Given the description of an element on the screen output the (x, y) to click on. 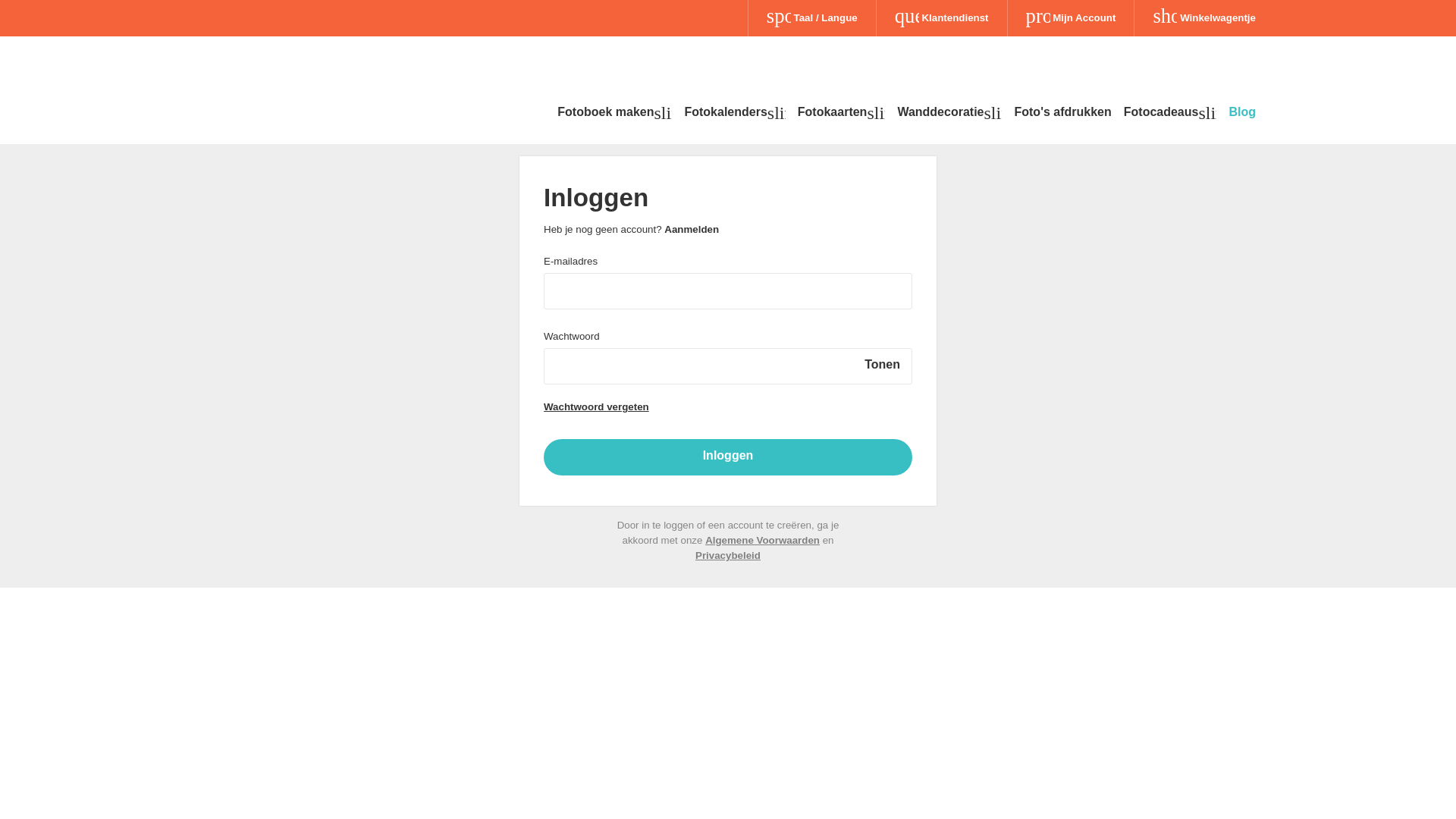
Privacybeleid Element type: text (727, 555)
Foto's afdrukken Element type: text (1062, 115)
Wanddecoratieslim_arrow_down Element type: text (949, 115)
Aanmelden Element type: text (691, 229)
Wachtwoord vergeten Element type: text (596, 406)
Inloggen Element type: text (727, 457)
Blog Element type: text (1241, 115)
shopping_cart Winkelwagentje Element type: text (1203, 18)
question_mark_circle Klantendienst Element type: text (941, 18)
Fotokaartenslim_arrow_down Element type: text (841, 115)
profile Mijn Account Element type: text (1070, 18)
Fotokalendersslim_arrow_down Element type: text (733, 115)
Fotoboek makenslim_arrow_down Element type: text (614, 115)
sports Taal / Langue Element type: text (811, 18)
Algemene Voorwaarden Element type: text (762, 540)
Fotocadeausslim_arrow_down Element type: text (1170, 115)
Tonen Element type: text (882, 364)
